Given the description of an element on the screen output the (x, y) to click on. 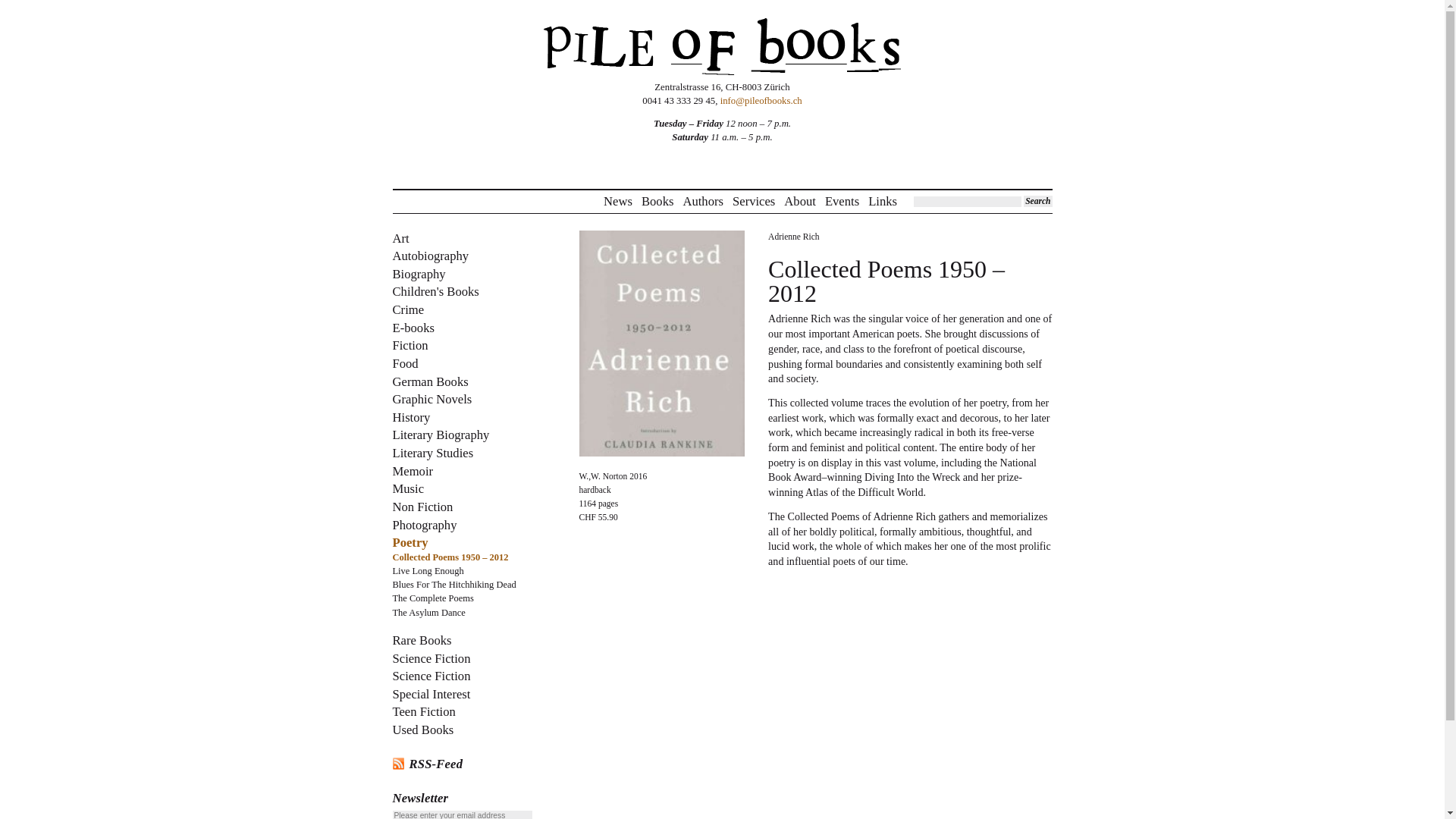
Used Books (423, 729)
Children's Books (436, 291)
Crime (409, 309)
Graphic Novels (432, 399)
Rare Books (422, 640)
History (411, 417)
Services (753, 201)
News (617, 201)
Science Fiction (431, 657)
RSS-Feed (462, 764)
The Asylum Dance (429, 612)
Science Fiction (431, 676)
Teen Fiction (424, 711)
Special Interest (431, 694)
Search (1037, 201)
